Given the description of an element on the screen output the (x, y) to click on. 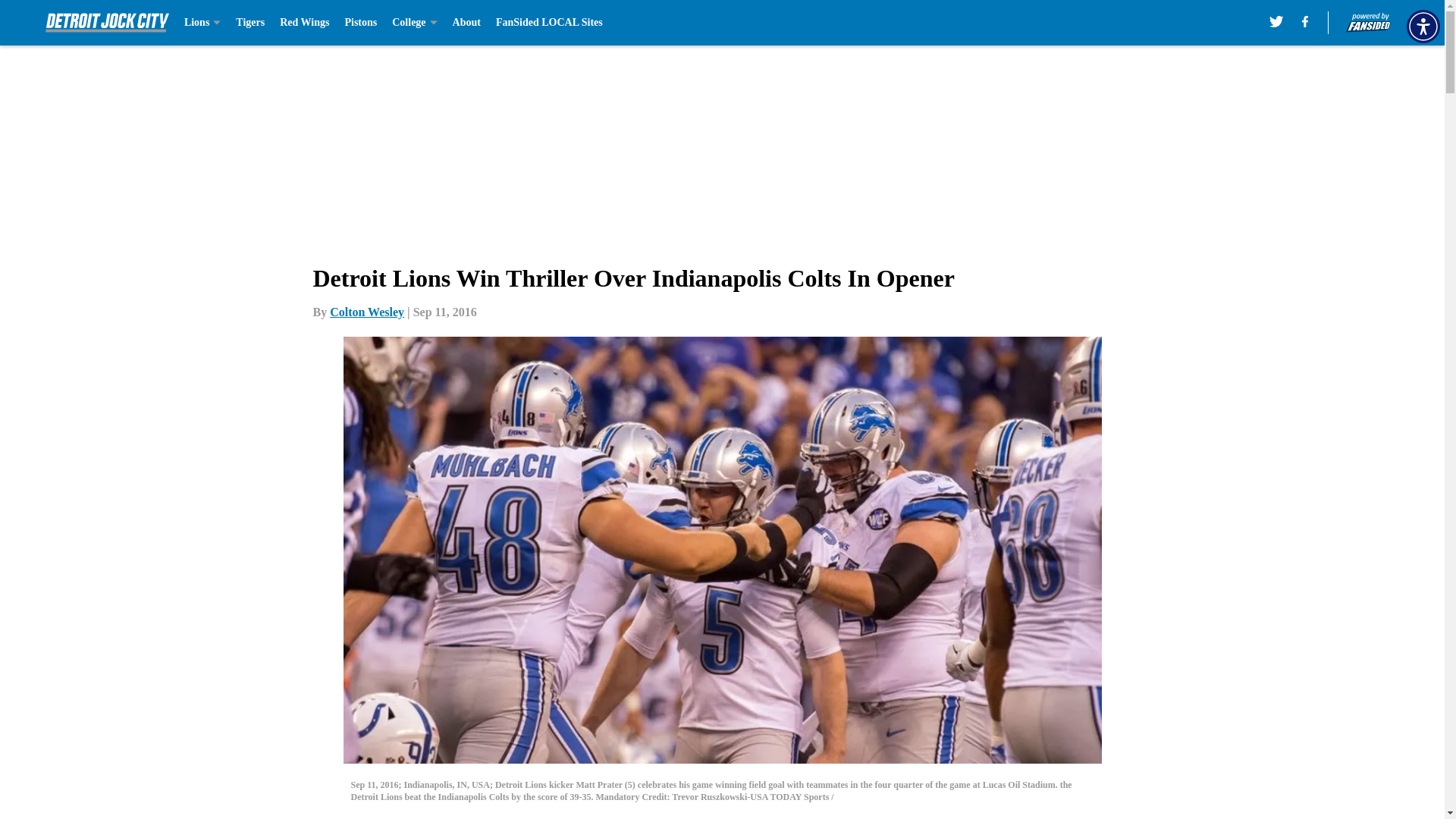
About (466, 22)
Tigers (249, 22)
Pistons (360, 22)
Accessibility Menu (1422, 26)
Red Wings (304, 22)
Colton Wesley (367, 311)
FanSided LOCAL Sites (549, 22)
